Given the description of an element on the screen output the (x, y) to click on. 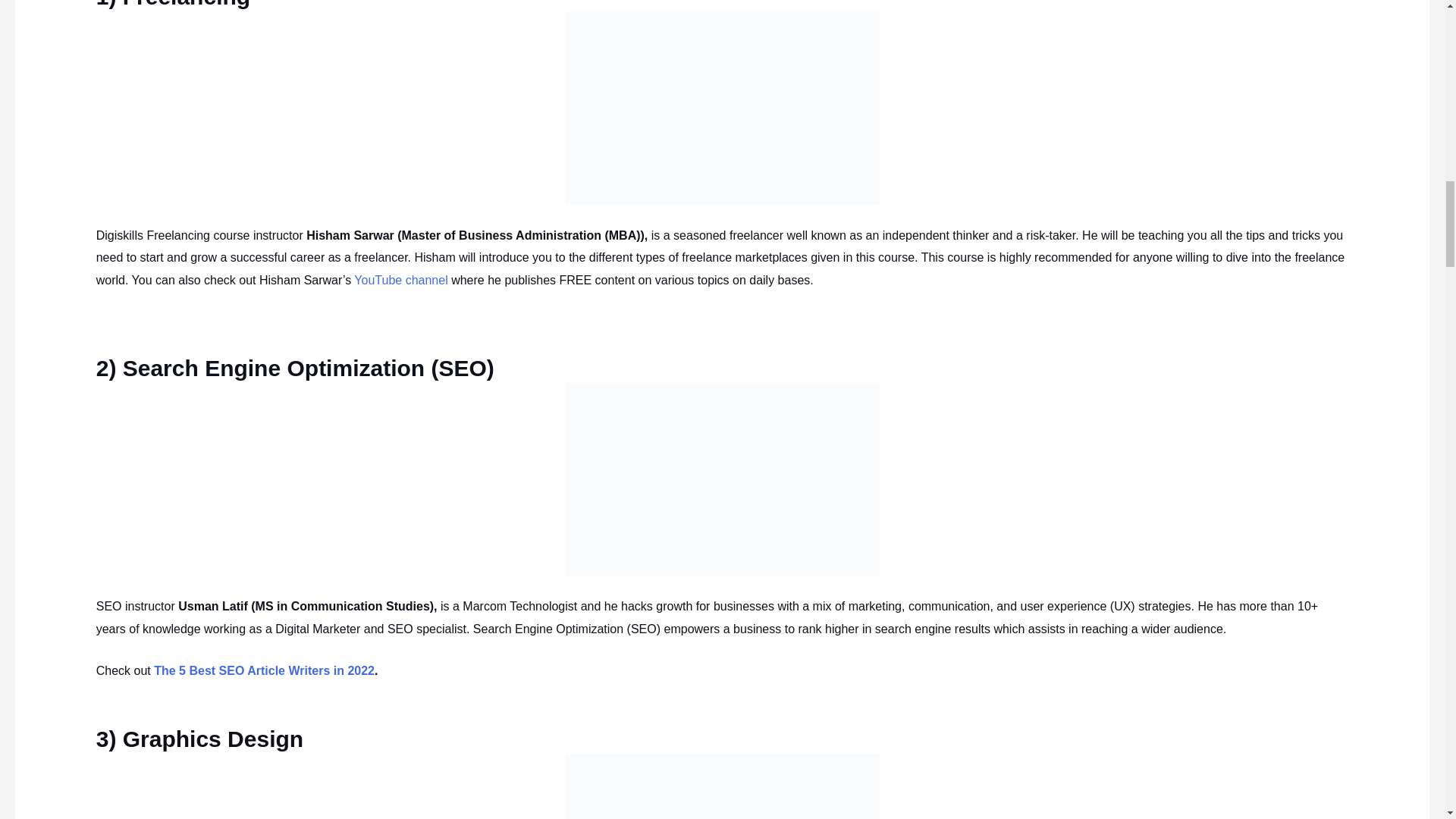
YouTube channel (402, 279)
The 5 Best SEO Article Writers in 2022 (264, 670)
